Given the description of an element on the screen output the (x, y) to click on. 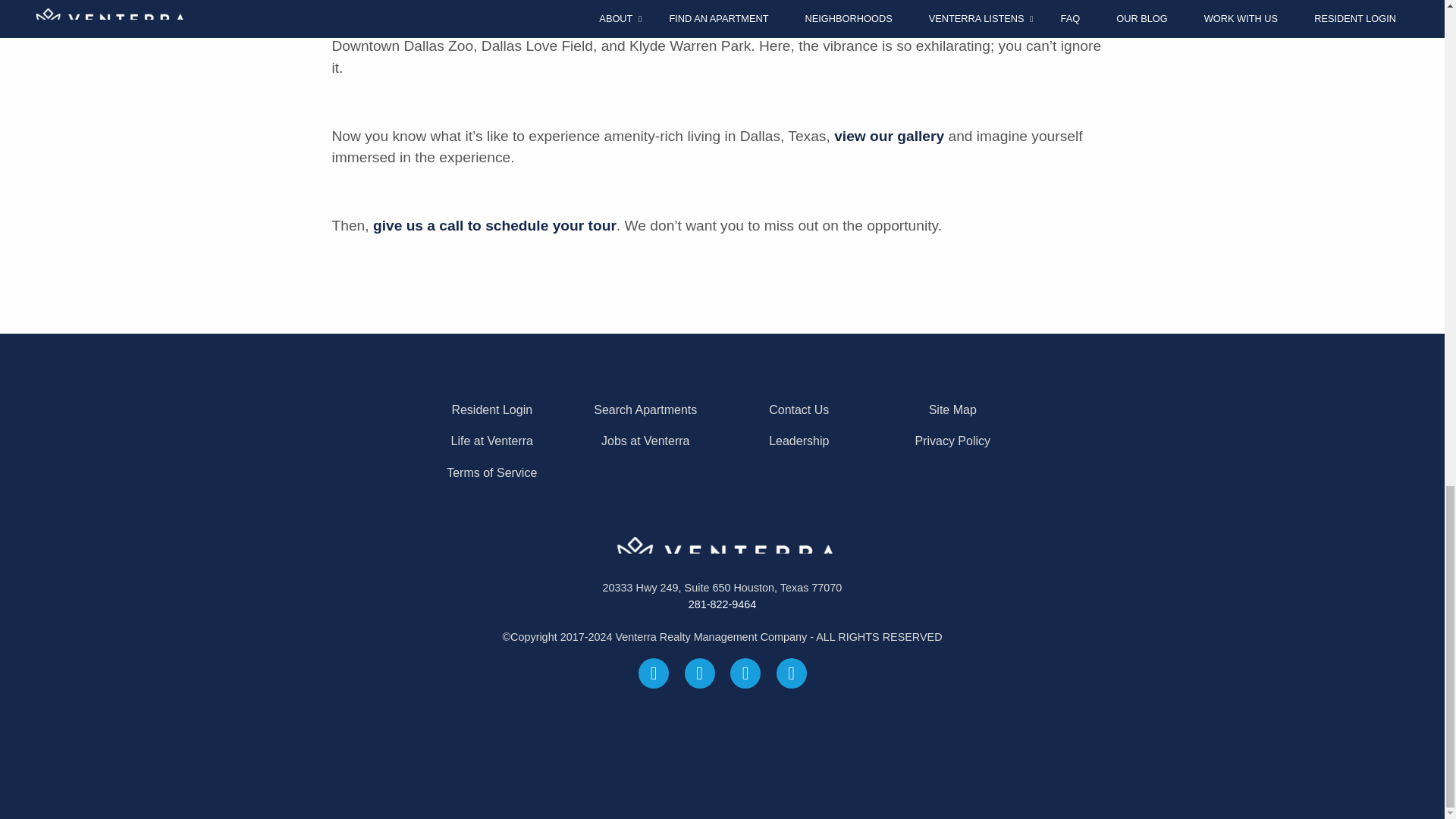
give us a call to schedule your tour (493, 225)
Search Apartments (645, 409)
Resident Login (491, 409)
view our gallery (888, 135)
